Given the description of an element on the screen output the (x, y) to click on. 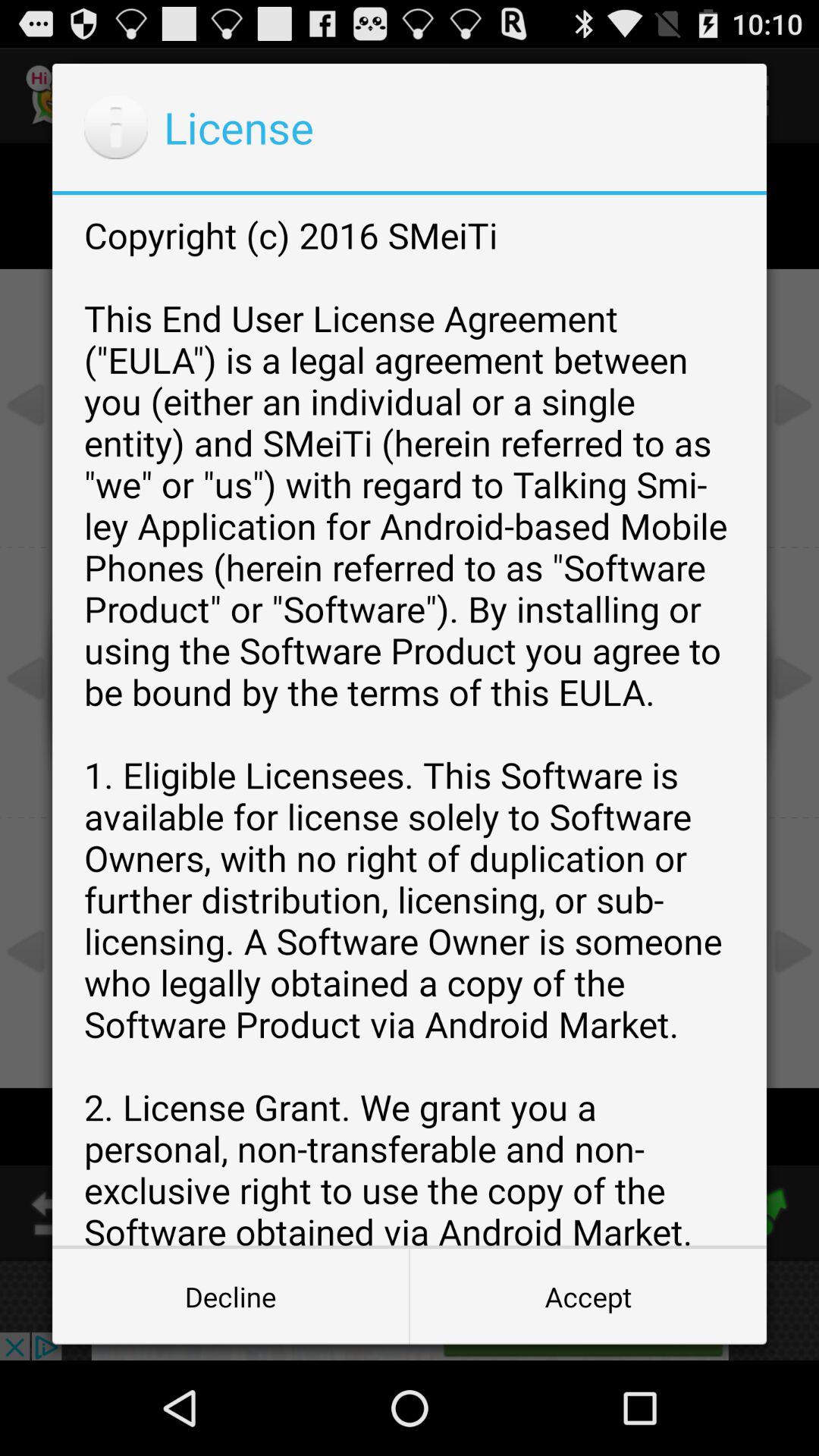
open the accept at the bottom right corner (588, 1296)
